Given the description of an element on the screen output the (x, y) to click on. 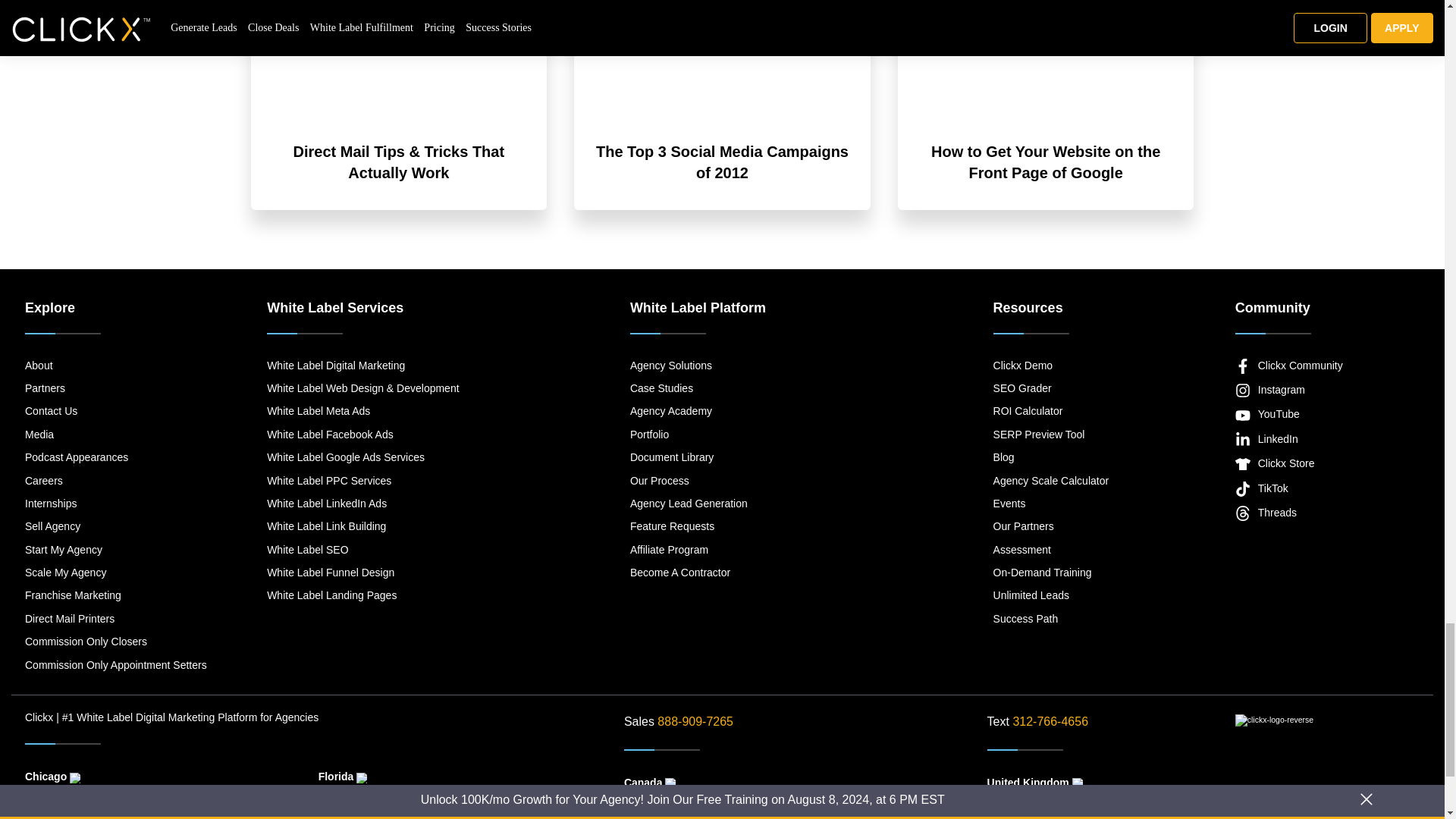
Contact Us (115, 410)
Sell Agency (115, 525)
Scale My Agency (115, 572)
Media (115, 434)
Internships (115, 503)
Franchise Marketing (115, 595)
The Top 3 Social Media Campaigns of 2012 (721, 161)
Partners (115, 388)
Podcast Appearances (115, 457)
Start My Agency (115, 549)
Careers (115, 480)
Direct Mail Printers (115, 618)
Commission Only Closers (115, 641)
About (115, 365)
How to Get Your Website on the Front Page of Google (1045, 161)
